Given the description of an element on the screen output the (x, y) to click on. 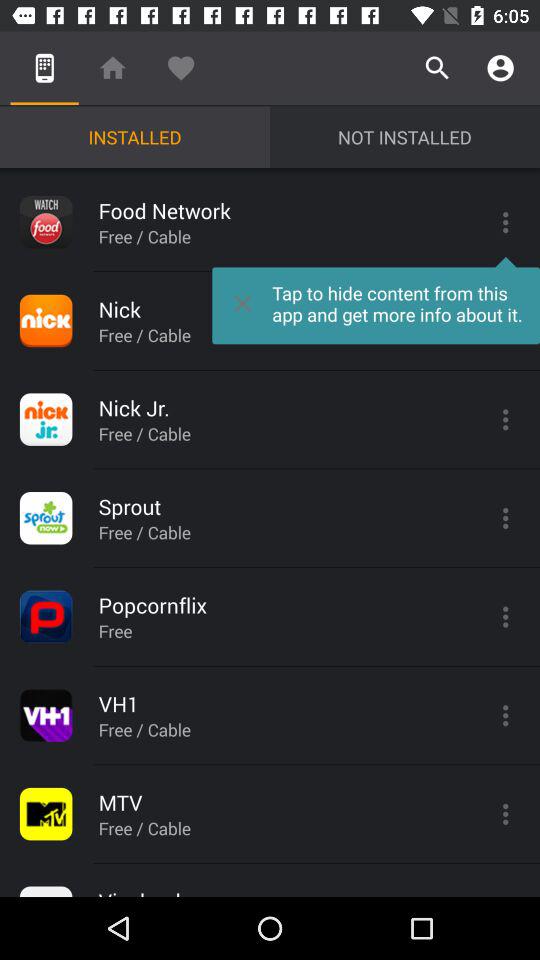
turn on item next to free / cable (376, 300)
